Given the description of an element on the screen output the (x, y) to click on. 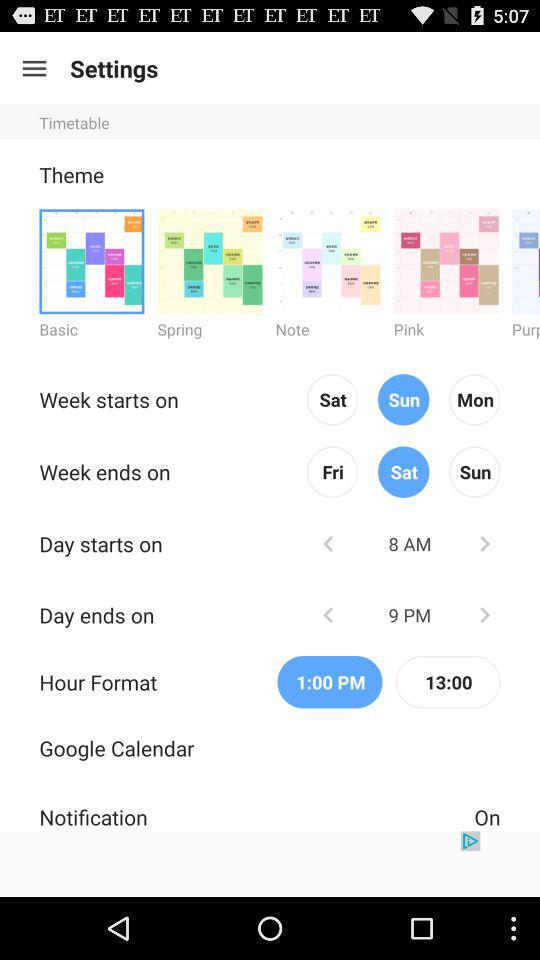
later (484, 543)
